Given the description of an element on the screen output the (x, y) to click on. 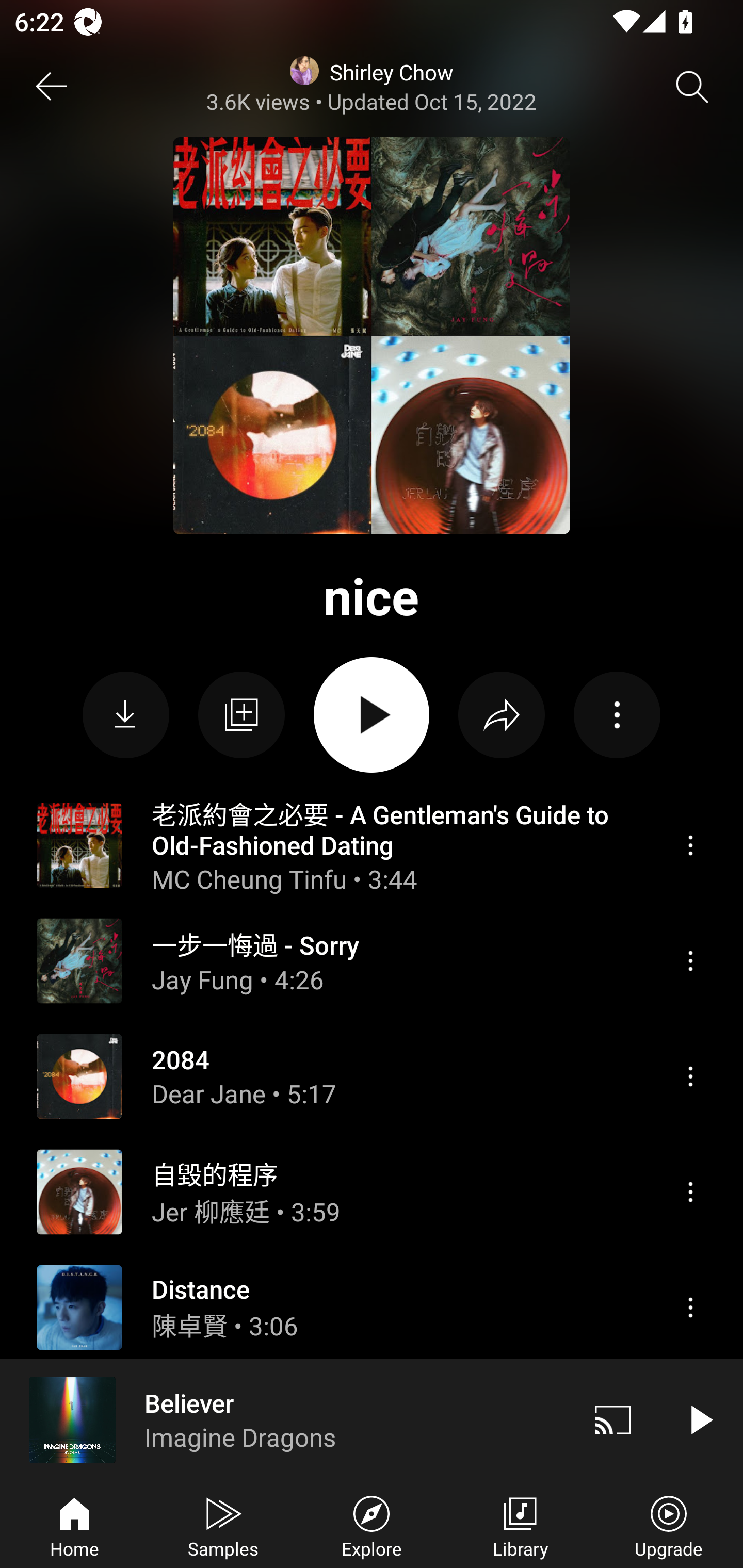
Back (50, 86)
Search (692, 86)
PLAY ALL (371, 714)
Download (125, 714)
Save to library (241, 714)
Share (501, 714)
Action menu (616, 714)
Menu (690, 845)
Menu (690, 961)
Menu (690, 1076)
Menu (690, 1191)
Menu (690, 1307)
Believer Imagine Dragons (284, 1419)
Cast. Disconnected (612, 1419)
Play video (699, 1419)
Home (74, 1524)
Samples (222, 1524)
Explore (371, 1524)
Library (519, 1524)
Upgrade (668, 1524)
